Given the description of an element on the screen output the (x, y) to click on. 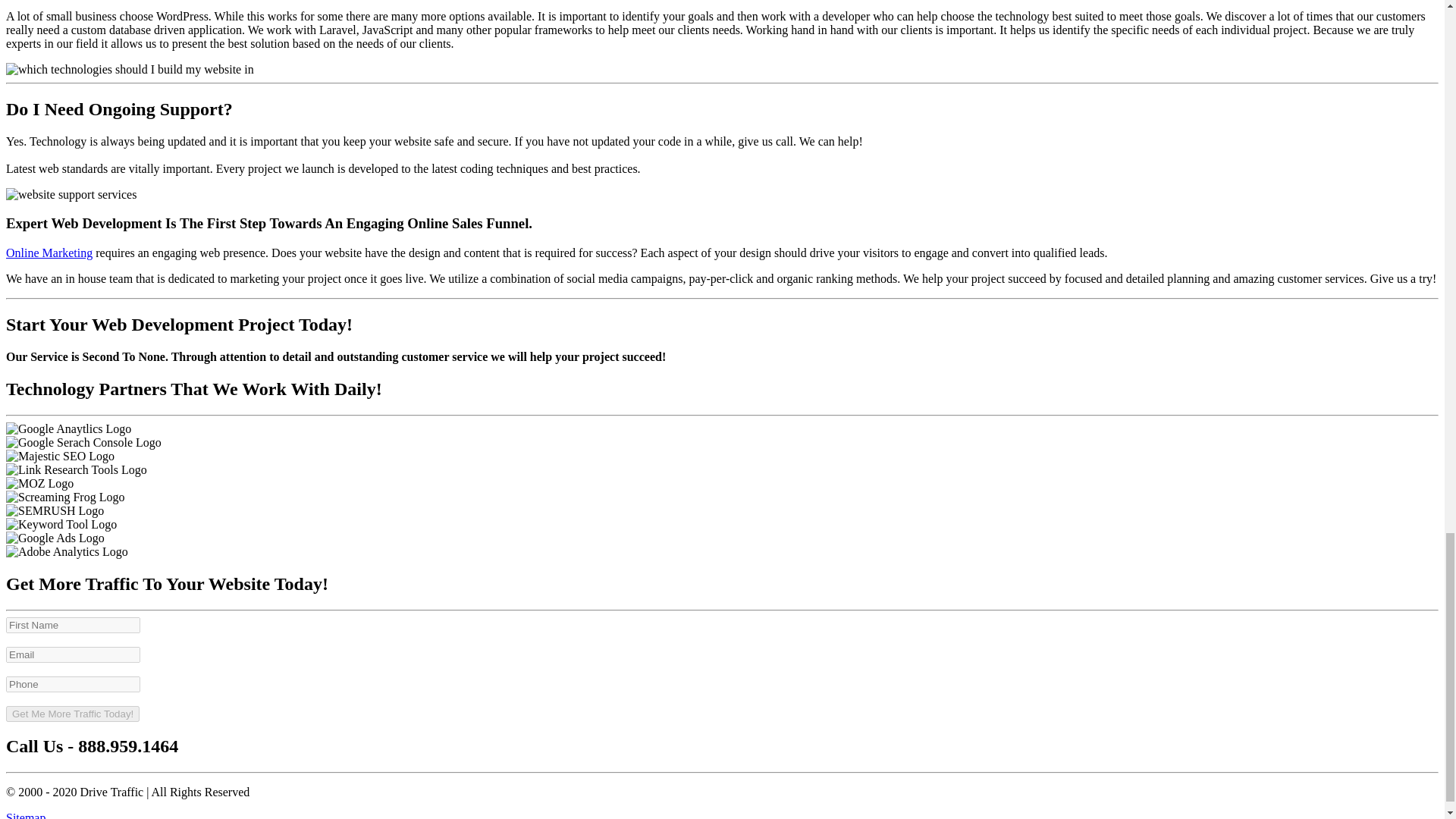
Online Marketing (49, 252)
Get Me More Traffic Today! (72, 713)
Get Me More Traffic Today! (72, 713)
